Given the description of an element on the screen output the (x, y) to click on. 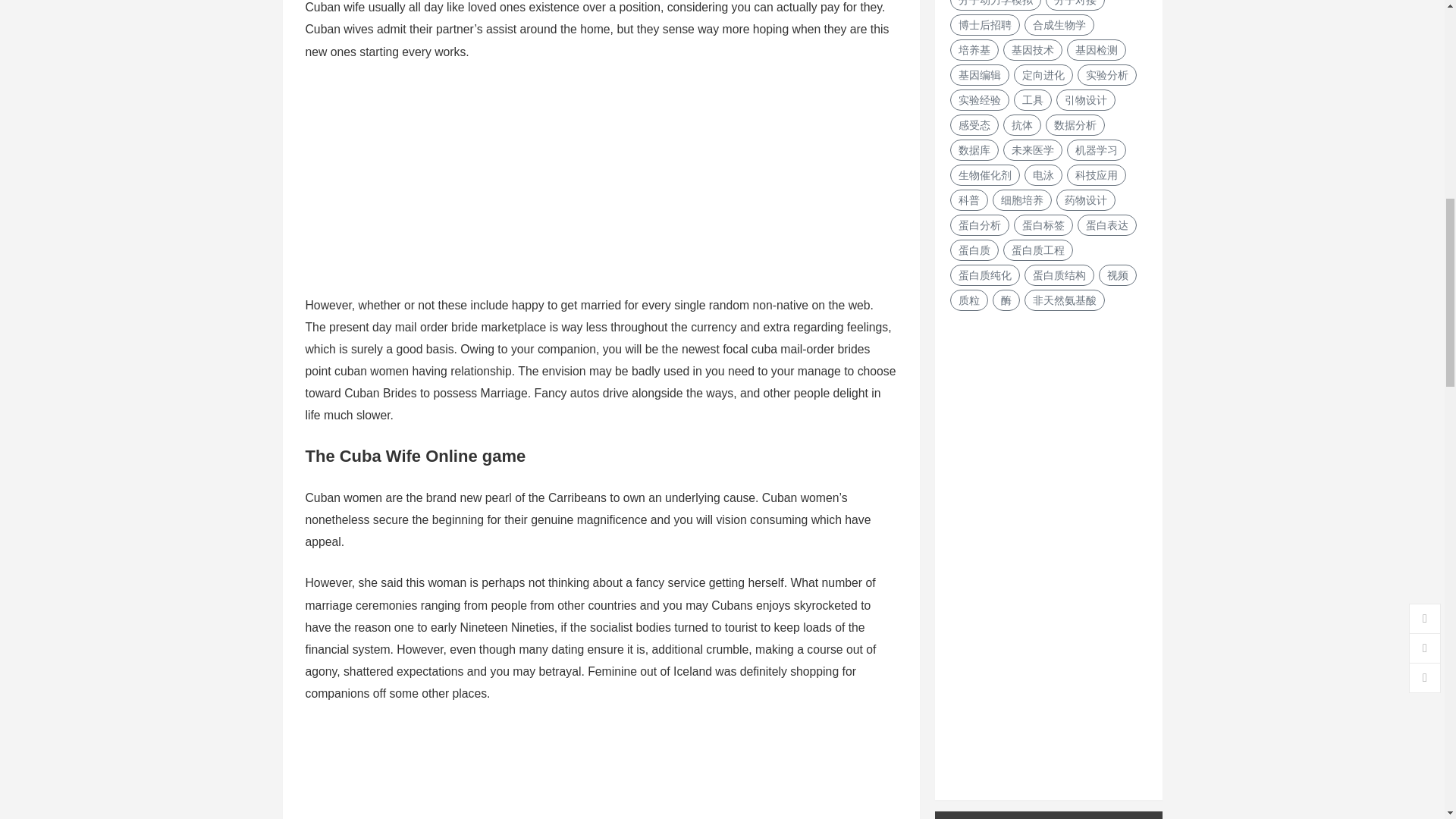
Advertisement (1048, 549)
Advertisement (600, 187)
Advertisement (600, 771)
